Given the description of an element on the screen output the (x, y) to click on. 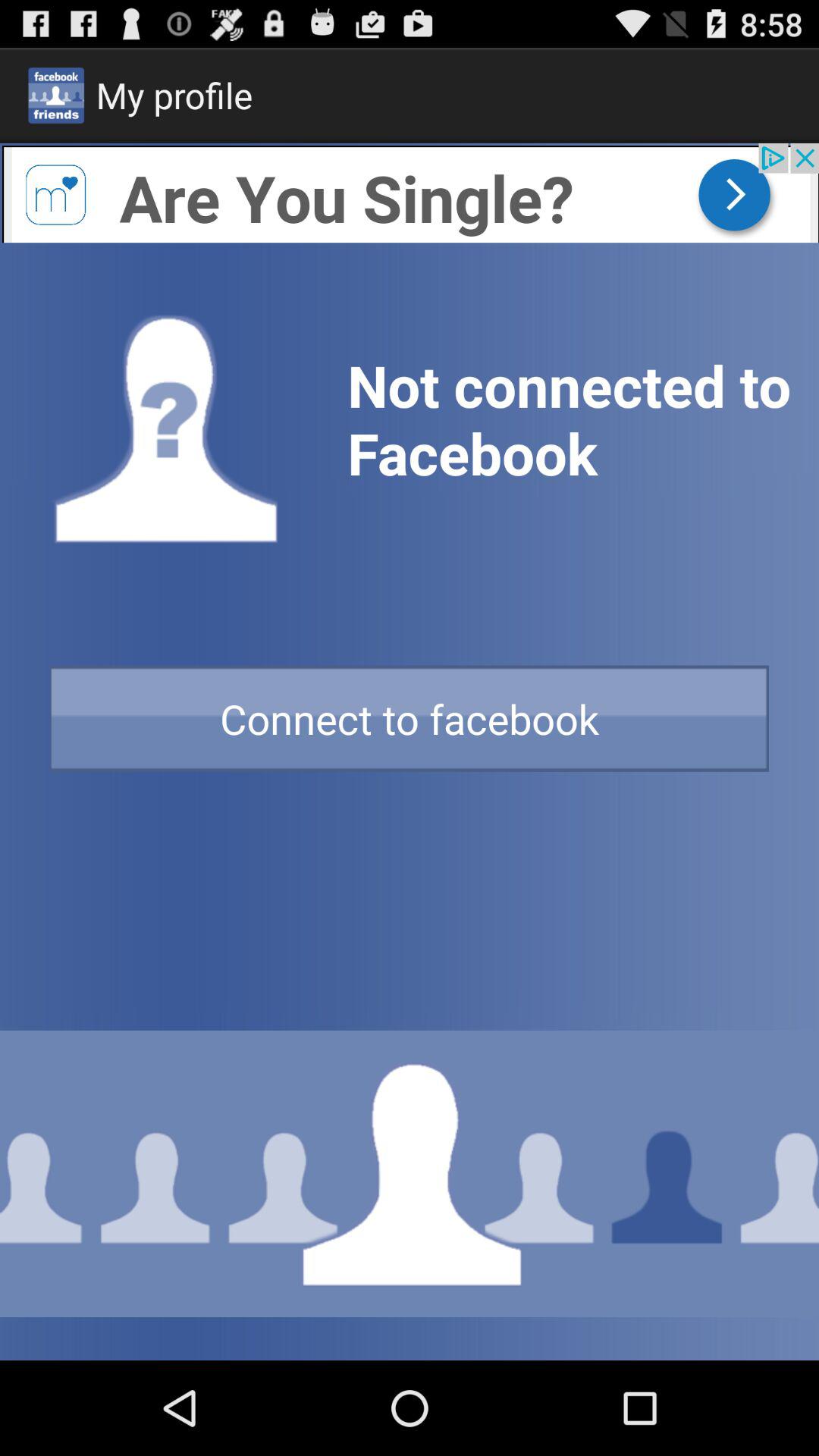
advertise banner (409, 192)
